Given the description of an element on the screen output the (x, y) to click on. 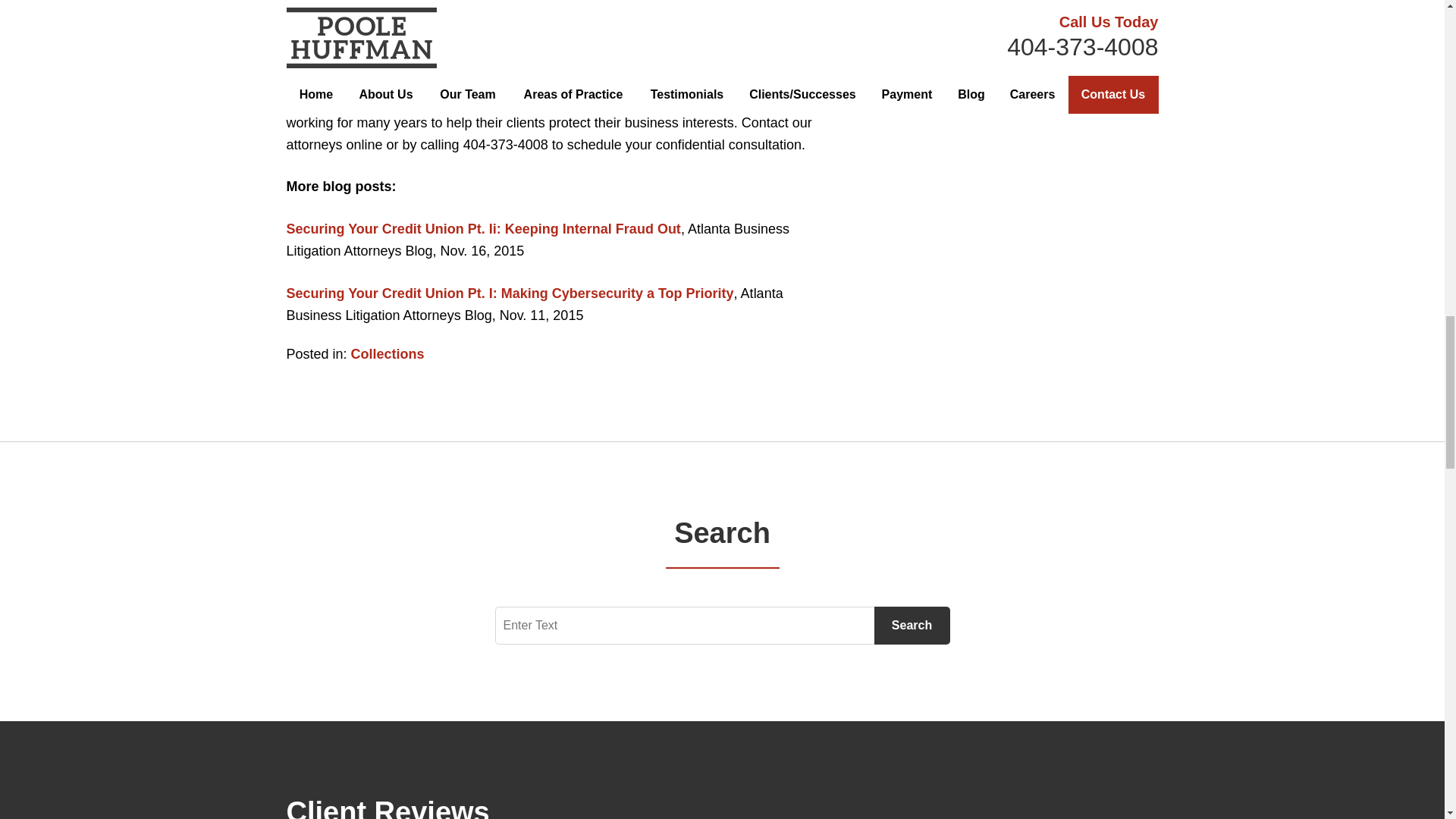
debt collection (408, 100)
Collections (387, 353)
